Given the description of an element on the screen output the (x, y) to click on. 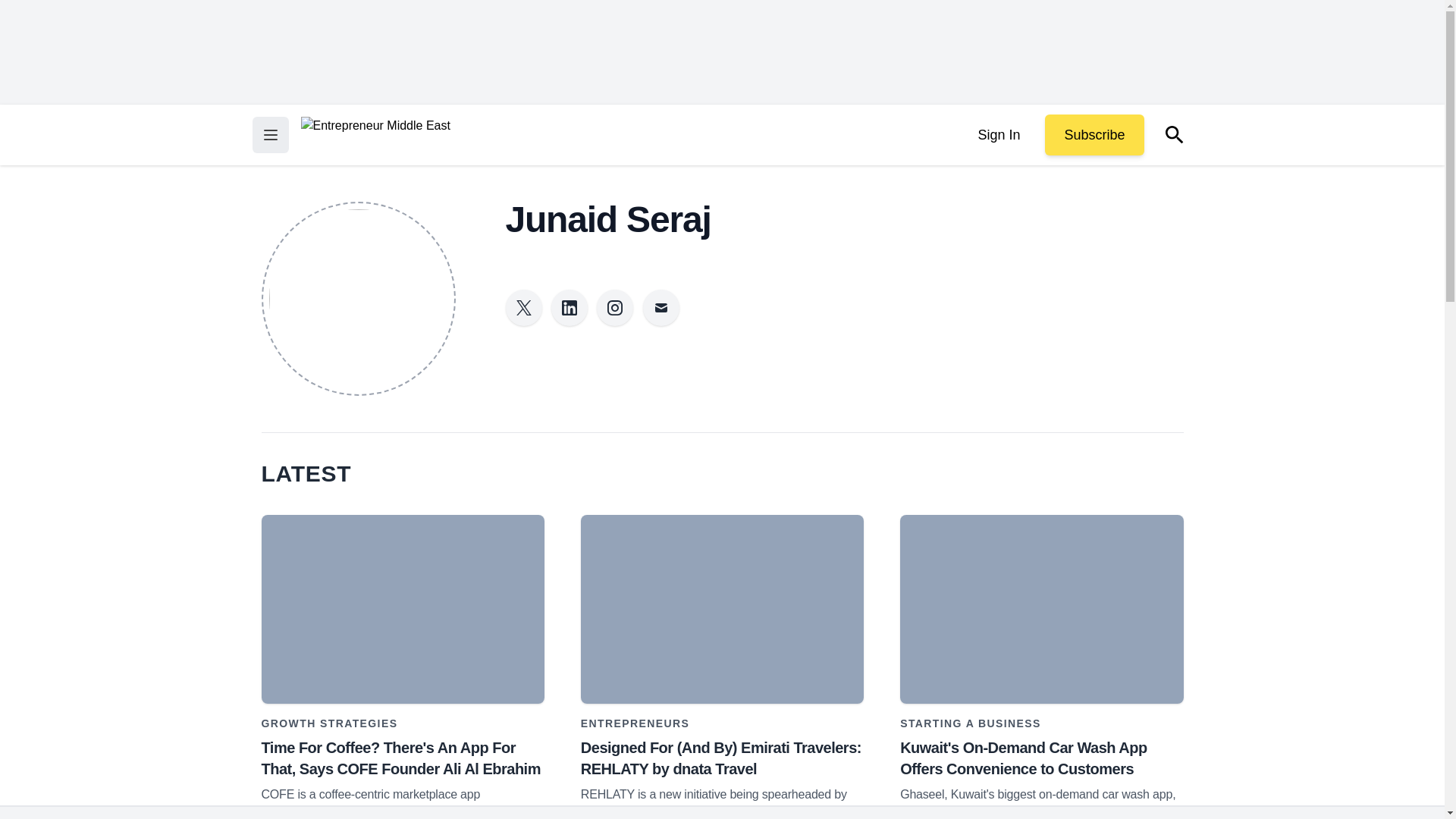
Subscribe (1093, 134)
email (661, 307)
Sign In (998, 134)
instagram (614, 307)
twitter (523, 307)
Return to the home page (374, 135)
linkedin (569, 307)
